Given the description of an element on the screen output the (x, y) to click on. 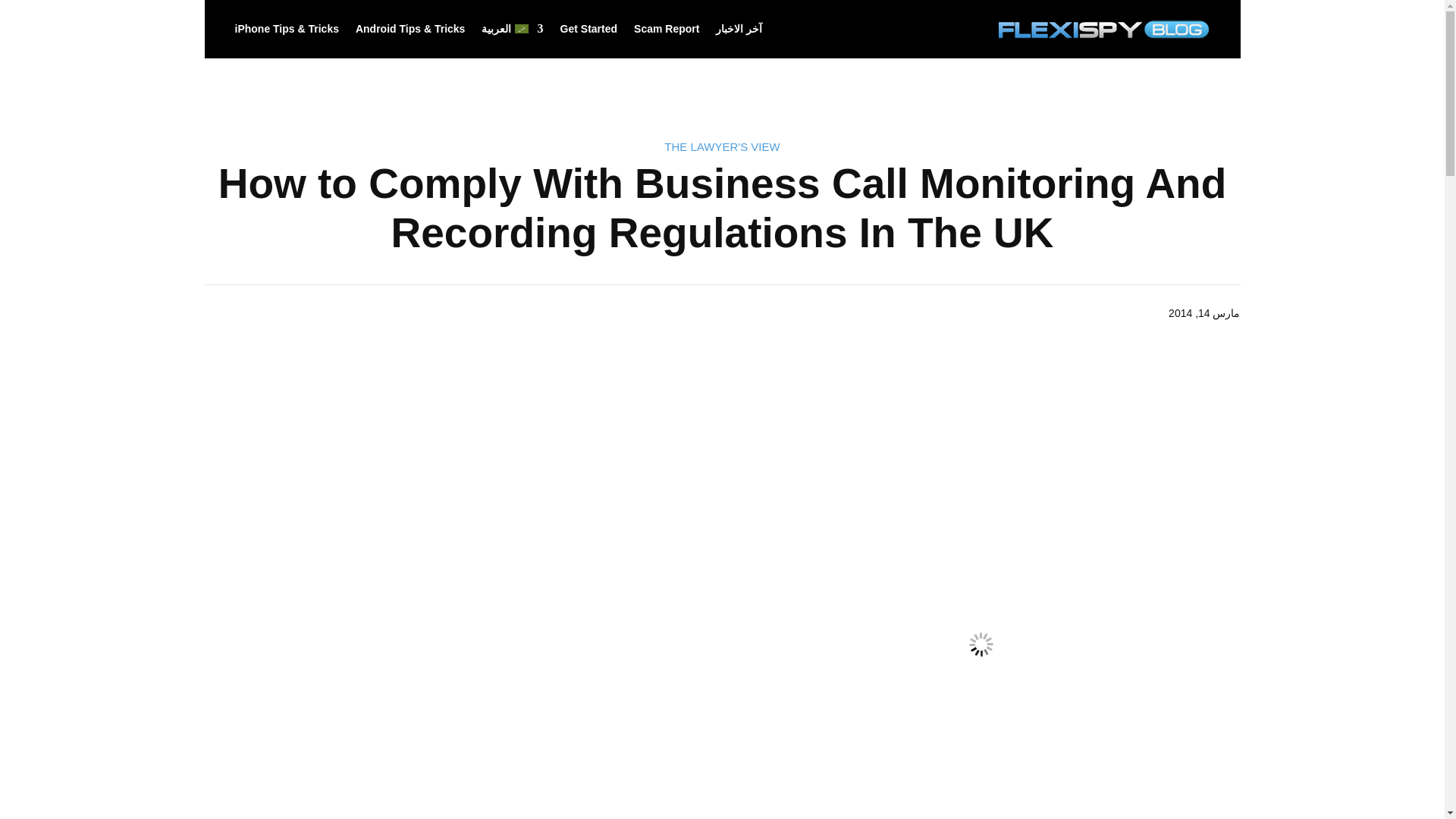
Scam Report (665, 28)
THE LAWYER'S VIEW (720, 146)
Get Started (588, 28)
